Given the description of an element on the screen output the (x, y) to click on. 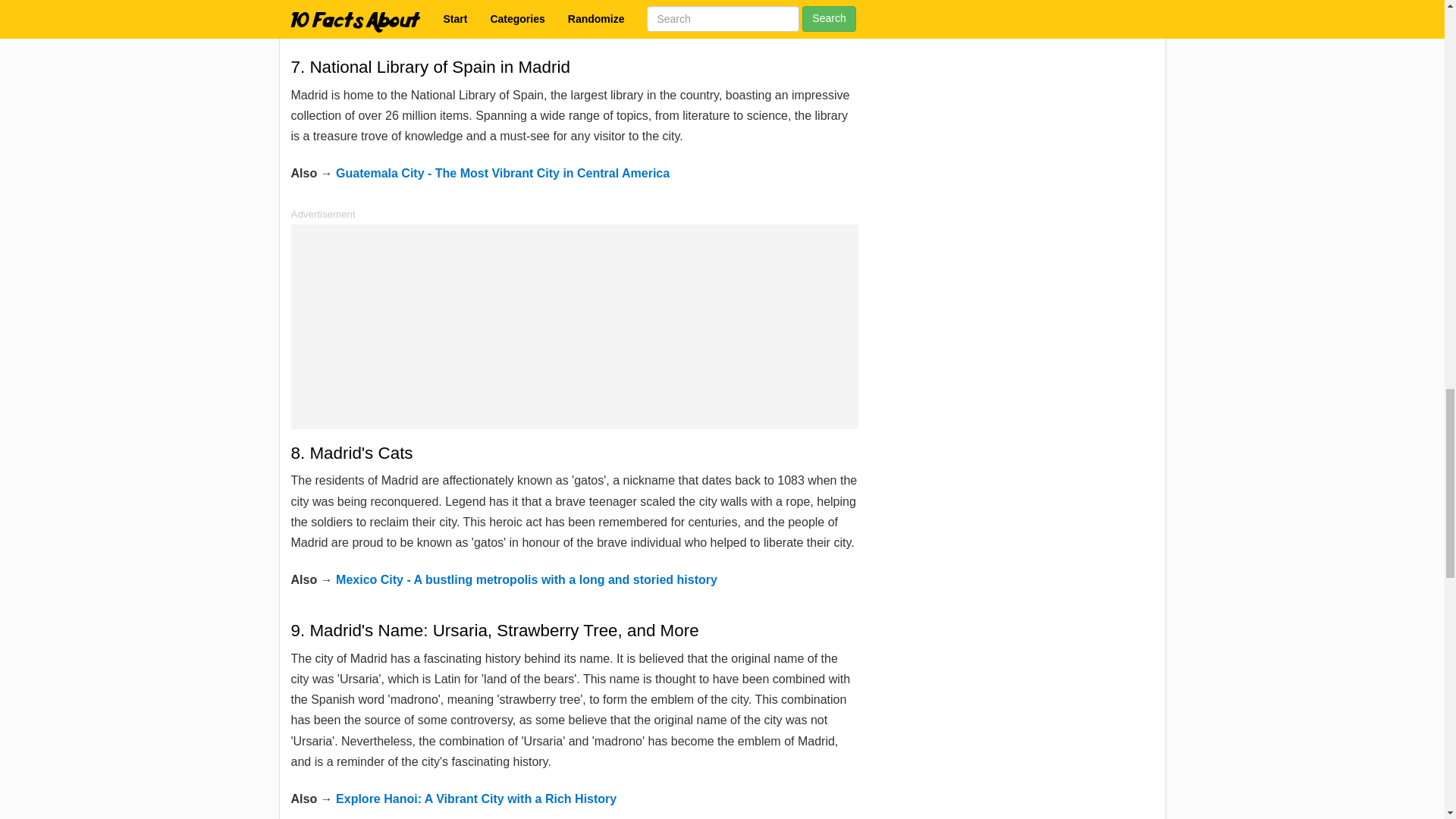
Explore Hanoi: A Vibrant City with a Rich History (475, 798)
Guatemala City - The Most Vibrant City in Central America (502, 173)
Dublin is Most Expensive City in Europe, 58th in World (493, 15)
